Given the description of an element on the screen output the (x, y) to click on. 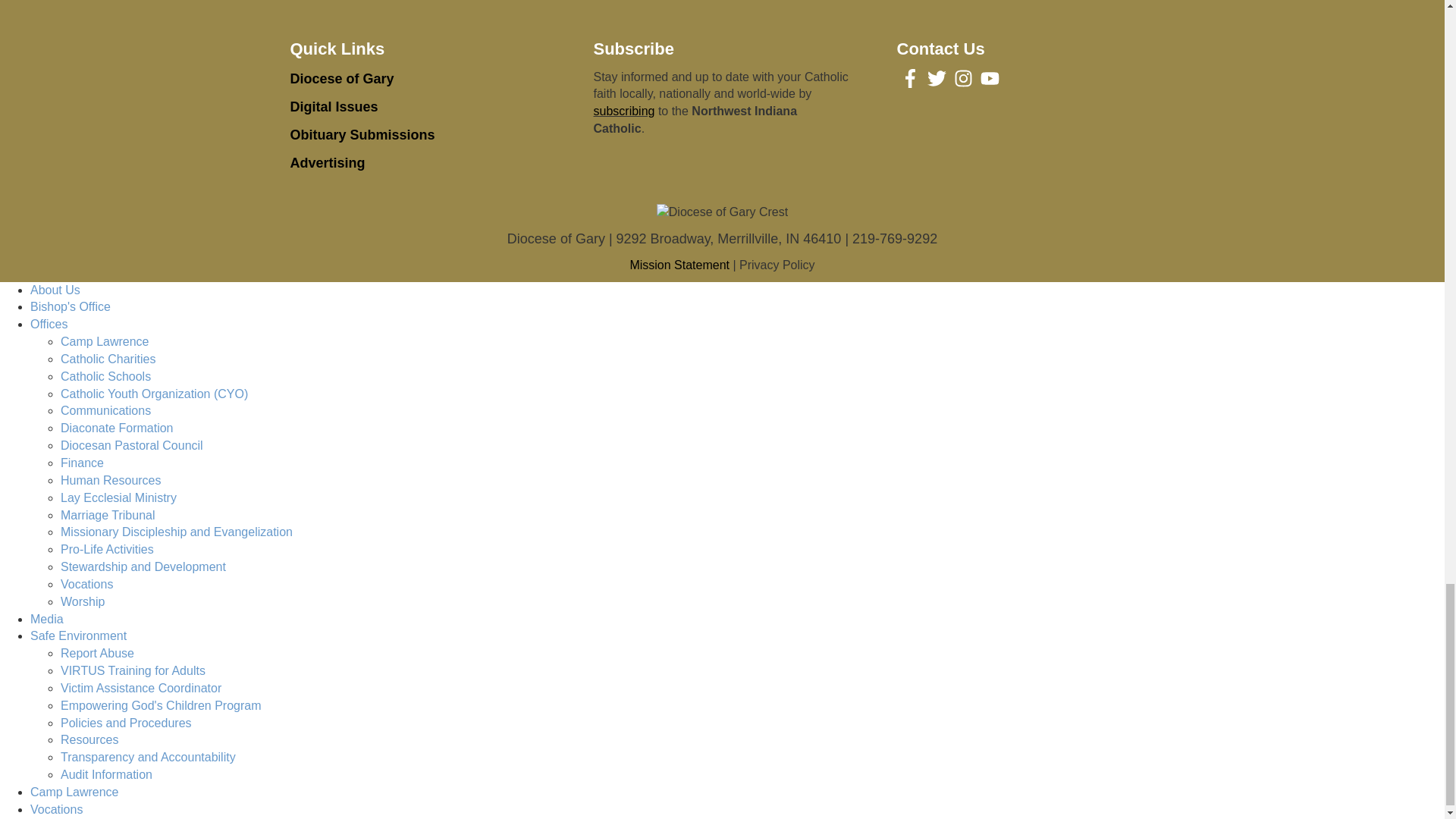
Human Resources (111, 480)
Offices (49, 323)
Finance (82, 462)
Mission Statement (678, 264)
Pro-Life Activities (107, 549)
About Us (55, 289)
Catholic Schools (106, 376)
Diaconate Formation (117, 427)
subscribing (622, 110)
Diocesan Pastoral Council (132, 445)
